Given the description of an element on the screen output the (x, y) to click on. 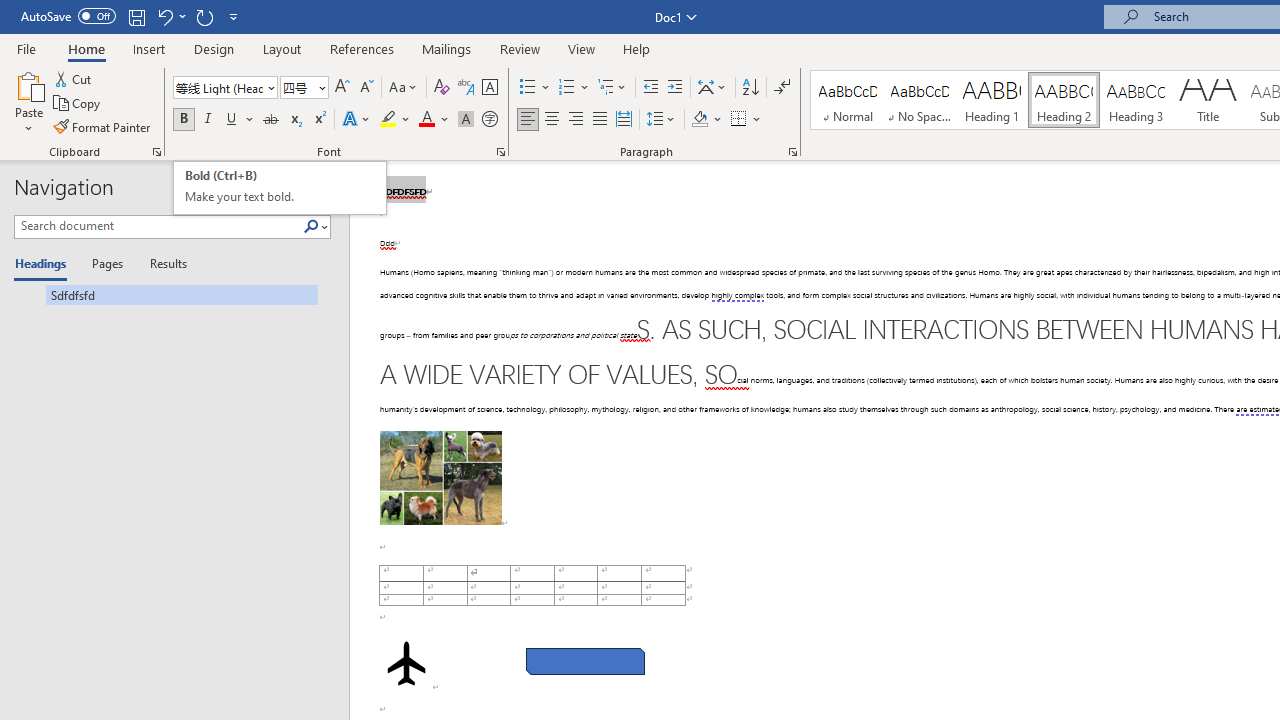
Paragraph... (792, 151)
Enclose Characters... (489, 119)
Heading 1 (991, 100)
Font Color (434, 119)
Font Size (304, 87)
Heading 3 (1135, 100)
Italic (207, 119)
Mailings (447, 48)
AutoSave (68, 16)
Underline (232, 119)
Task Pane Options (293, 188)
View (582, 48)
Cut (73, 78)
